Given the description of an element on the screen output the (x, y) to click on. 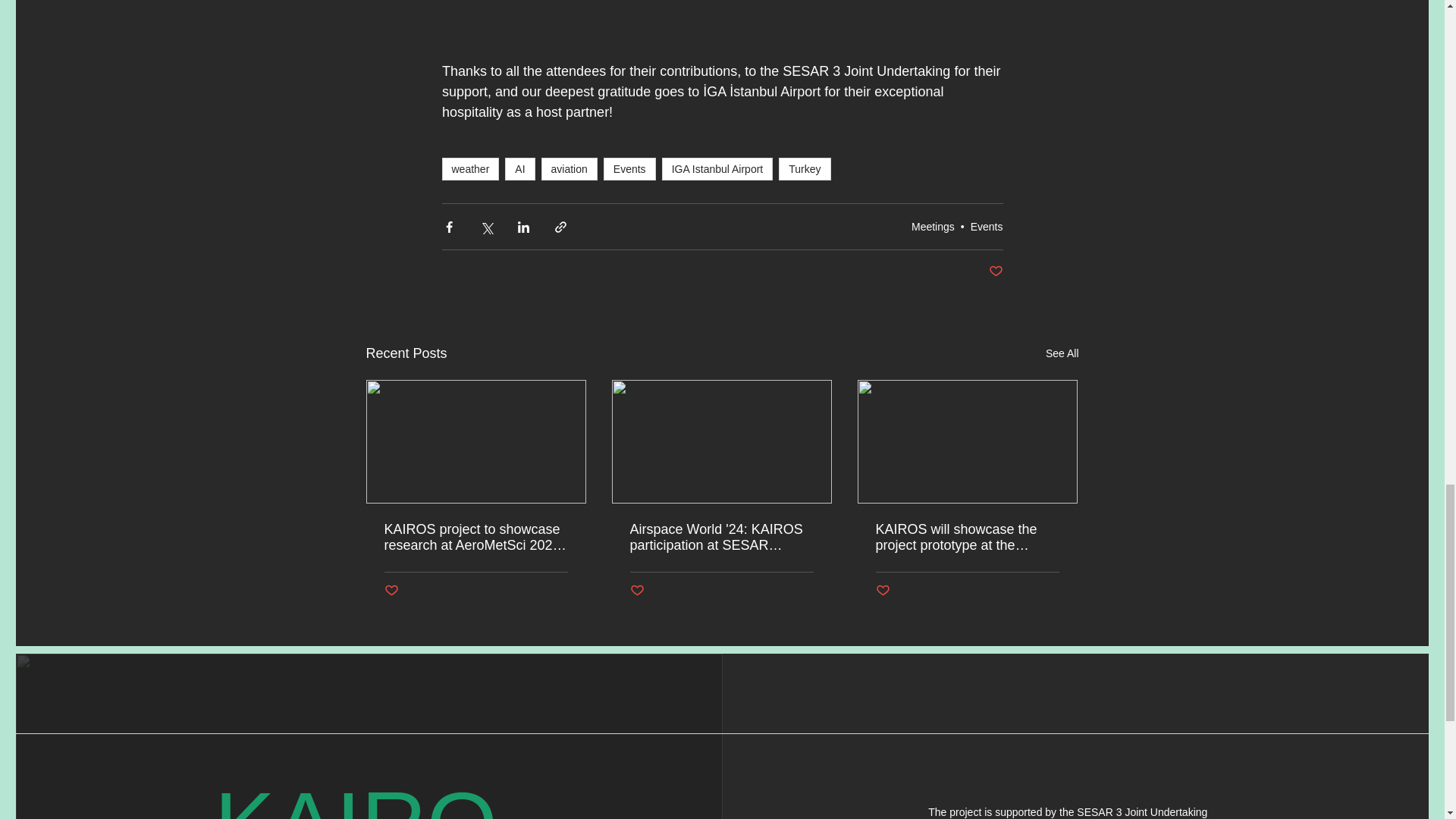
Post not marked as liked (995, 271)
IGA Istanbul Airport (717, 169)
Post not marked as liked (882, 590)
aviation (568, 169)
See All (1061, 353)
Post not marked as liked (635, 590)
Events (630, 169)
